Given the description of an element on the screen output the (x, y) to click on. 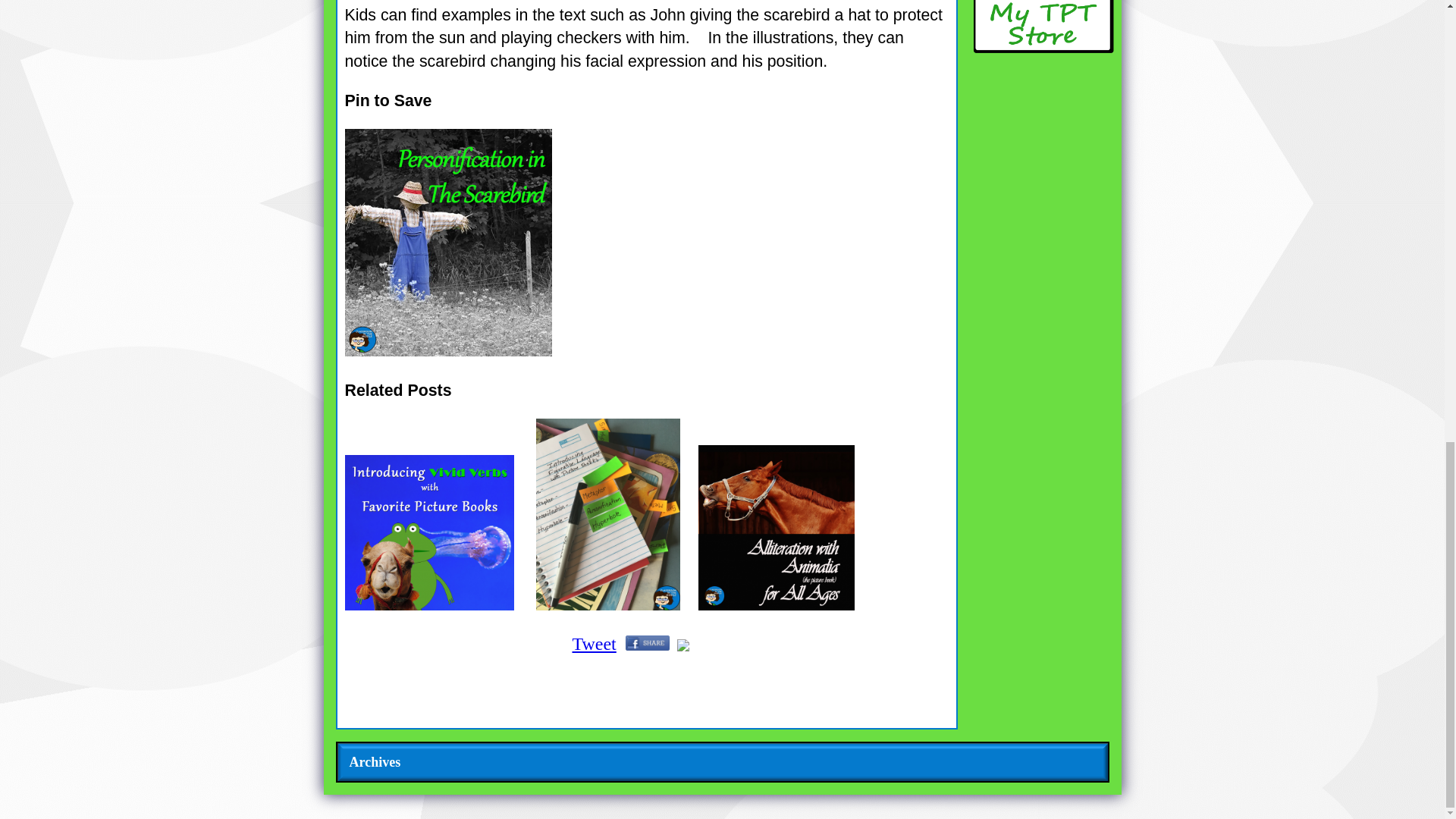
Archives (374, 761)
Tweet (593, 643)
